Given the description of an element on the screen output the (x, y) to click on. 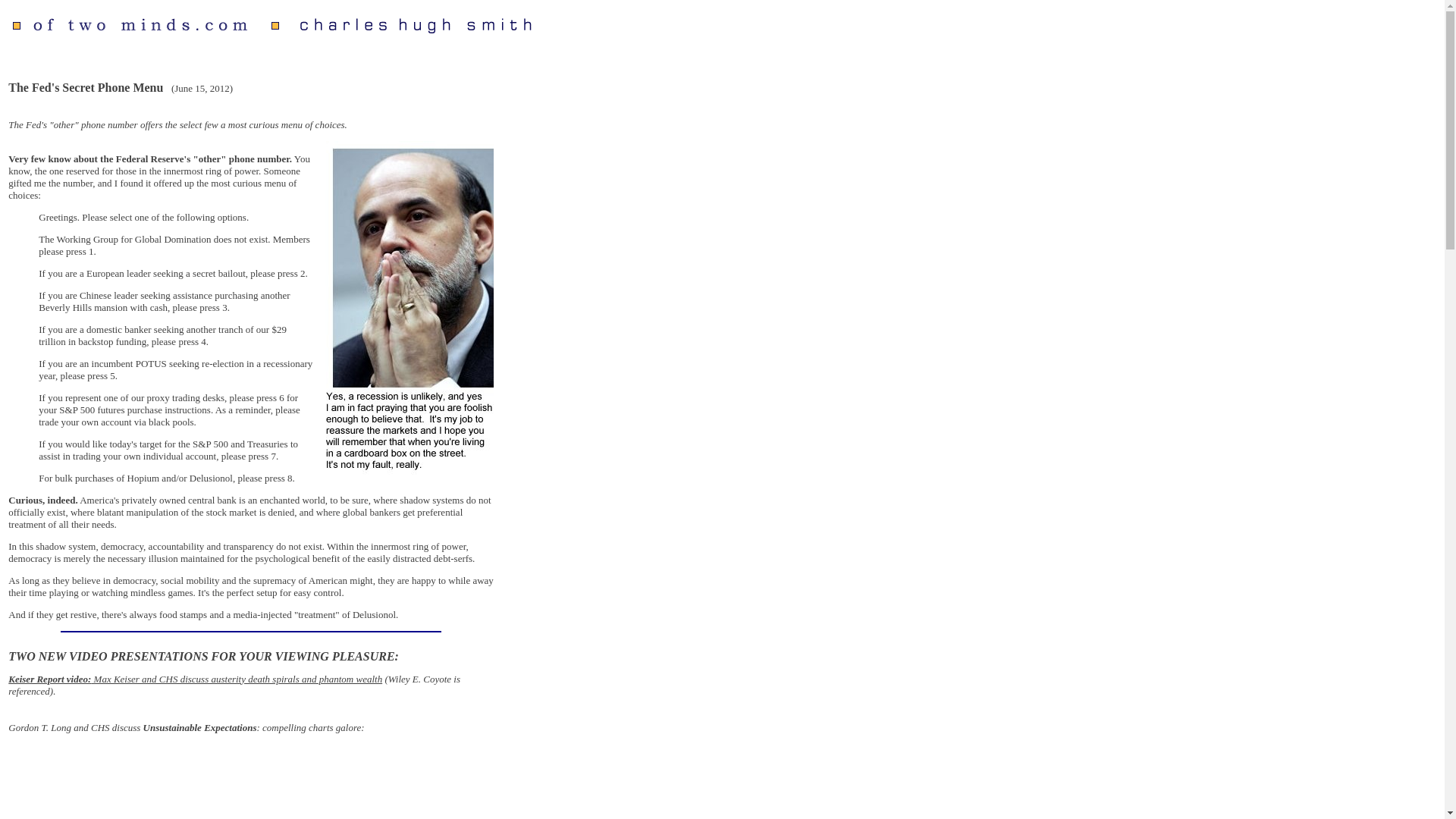
Advertisement (572, 790)
Advertisement (639, 174)
